Given the description of an element on the screen output the (x, y) to click on. 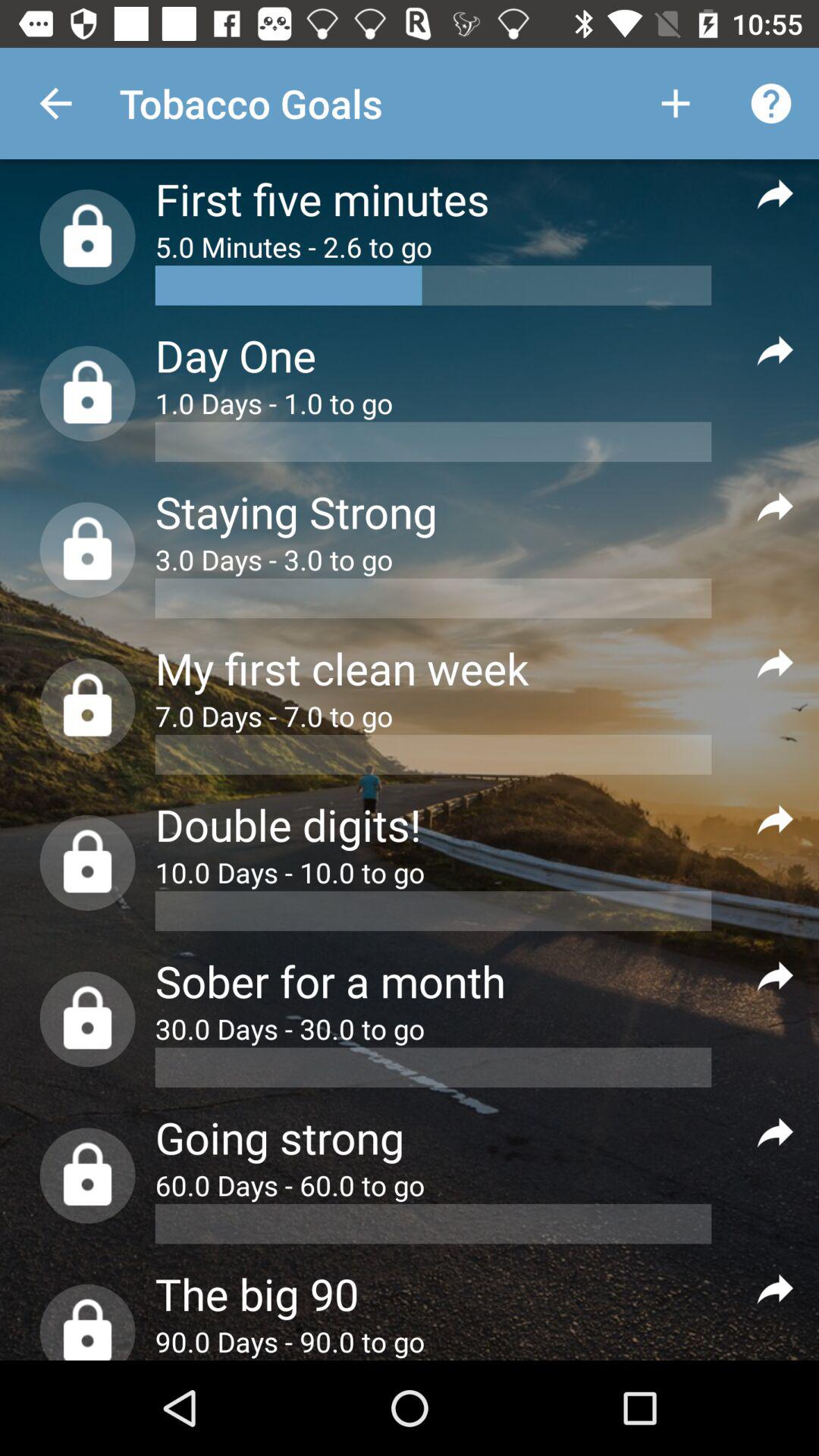
select option (775, 193)
